Given the description of an element on the screen output the (x, y) to click on. 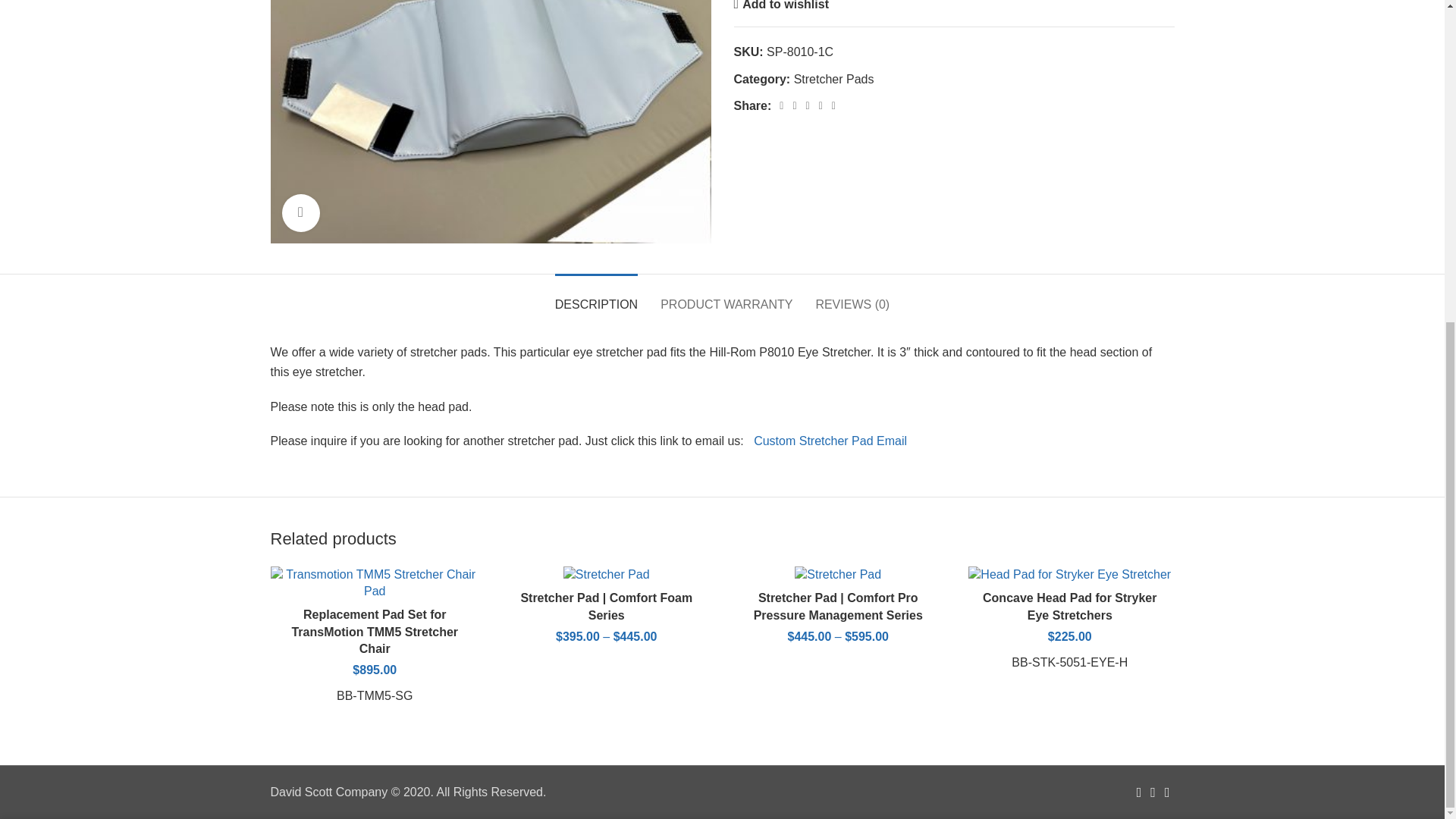
Hill-Rom Eye Stretcher Head Pad (489, 121)
